Given the description of an element on the screen output the (x, y) to click on. 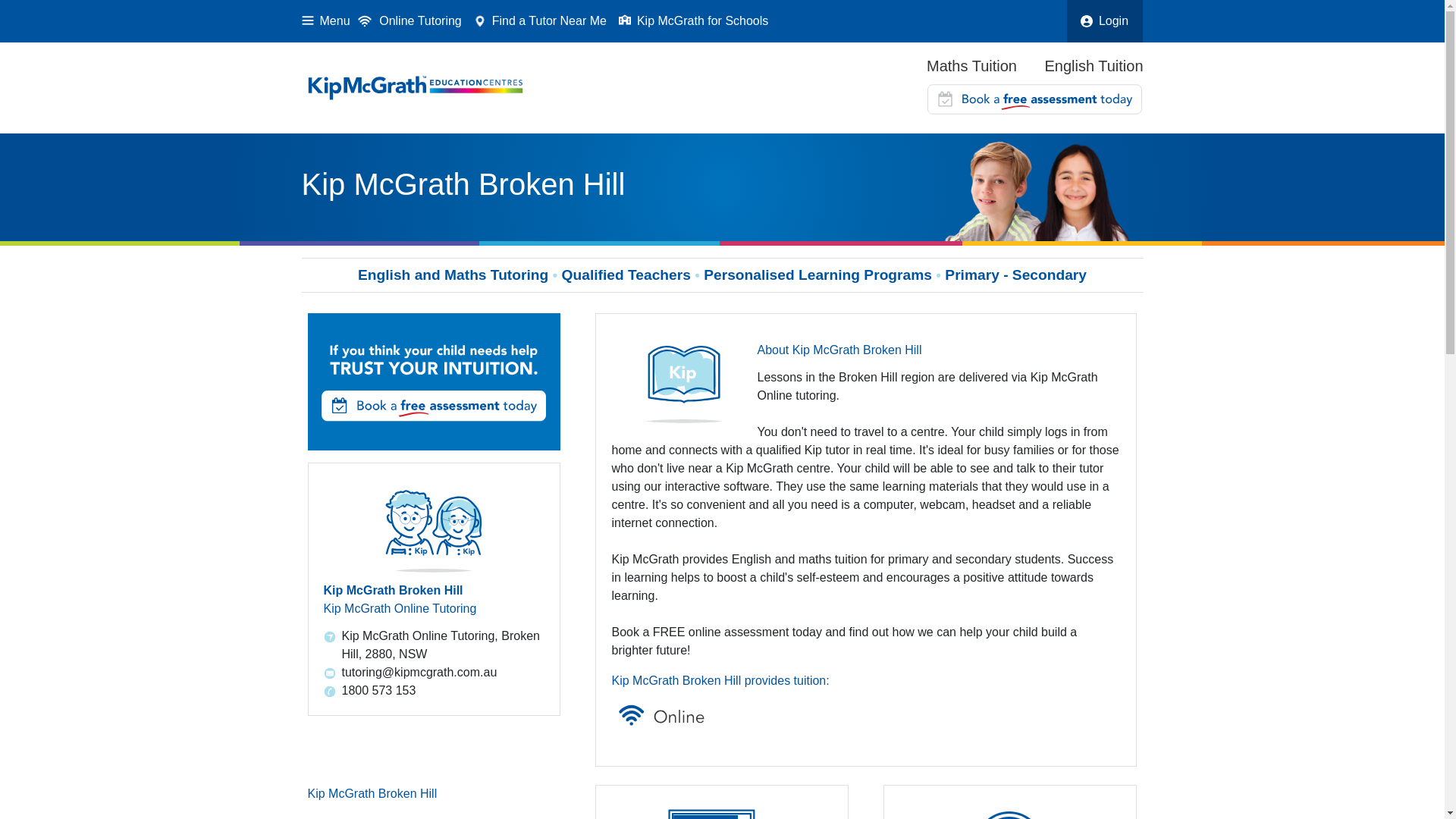
Maths Tuition Element type: text (971, 66)
Online Tutoring Element type: text (408, 21)
tutoring@kipmcgrath.com.au Element type: text (433, 672)
Kip McGrath Online Tutoring, Broken Hill, 2880, NSW Element type: text (433, 645)
1800 573 153 Element type: text (433, 690)
Kip McGrath Broken Hill Element type: text (372, 793)
English Tuition Element type: text (1093, 66)
Find a Tutor Near Me Element type: text (536, 21)
Menu Element type: text (325, 20)
Kip McGrath for Schools Element type: text (690, 21)
